Given the description of an element on the screen output the (x, y) to click on. 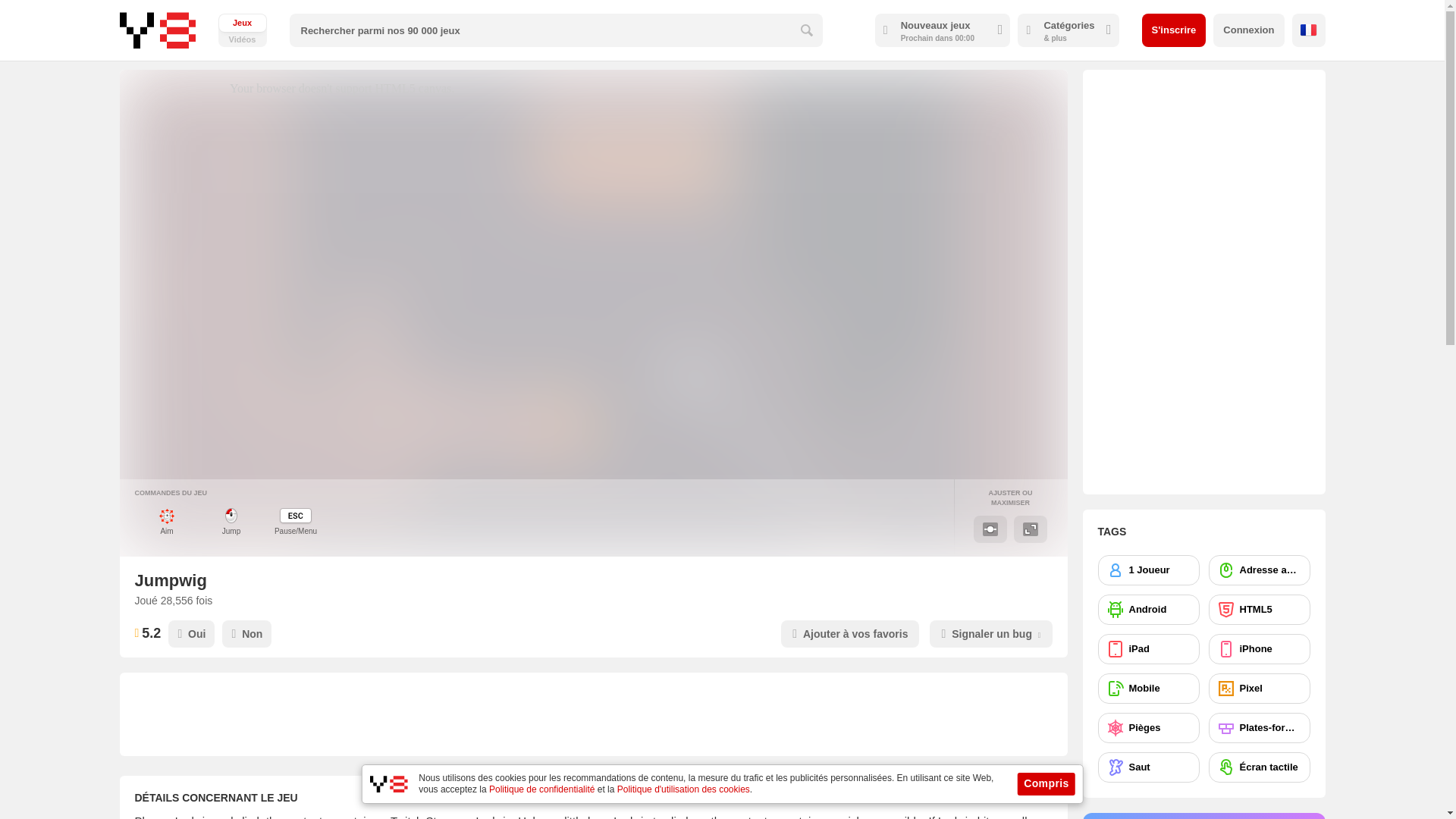
1 Joueur (1148, 570)
Mobile (1148, 688)
HTML5 (1259, 609)
Adresse avec la souris (1259, 570)
iPad (1148, 648)
Connexion (1248, 29)
iPhone (1259, 648)
Android (1148, 609)
Pixel (1259, 688)
Politique d'utilisation des cookies (683, 789)
Saut (1148, 767)
S'inscrire (1174, 29)
Plates-formes (1259, 727)
